Given the description of an element on the screen output the (x, y) to click on. 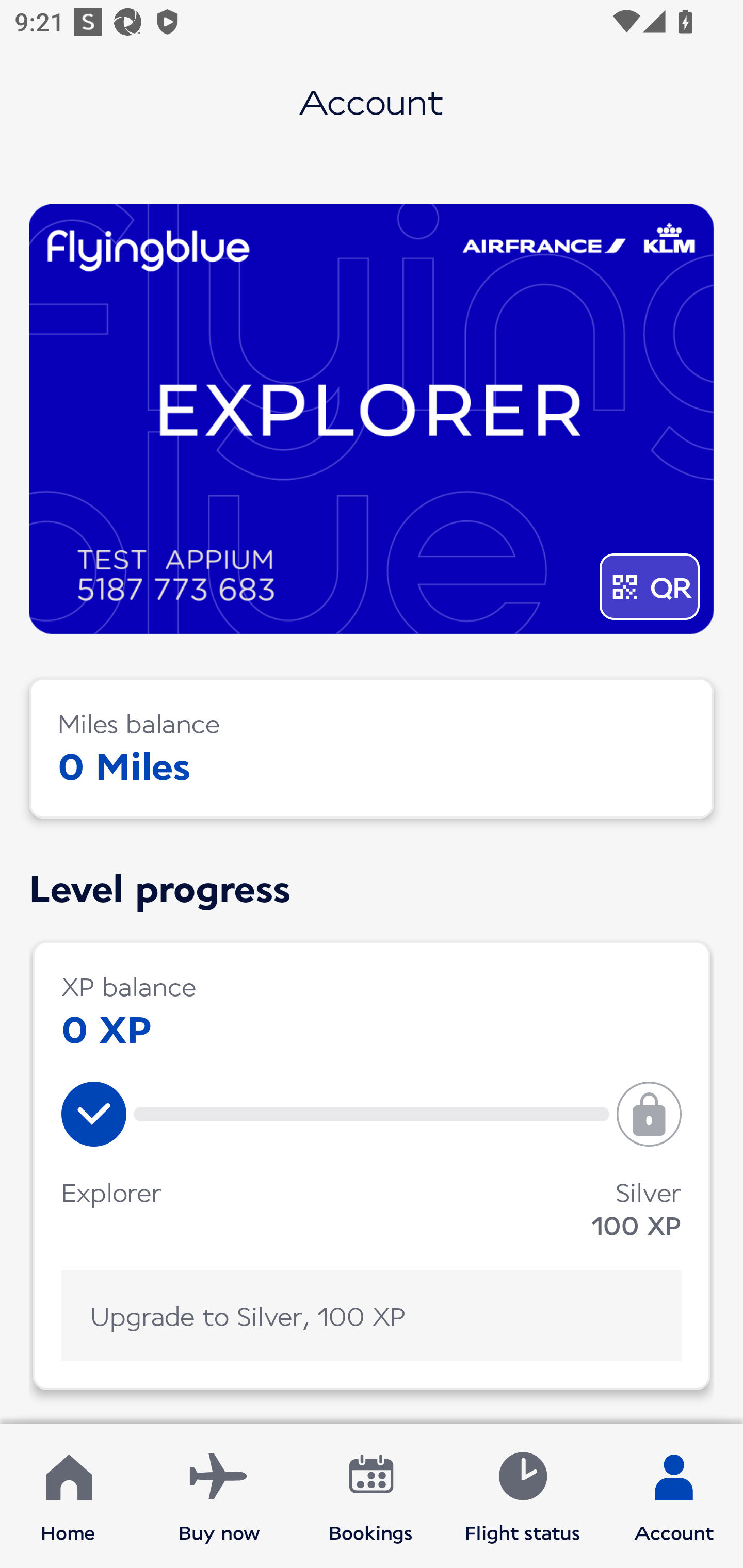
Miles balance 0 Miles (371, 747)
Home (68, 1495)
Buy now (219, 1495)
Bookings (370, 1495)
Flight status (522, 1495)
